Given the description of an element on the screen output the (x, y) to click on. 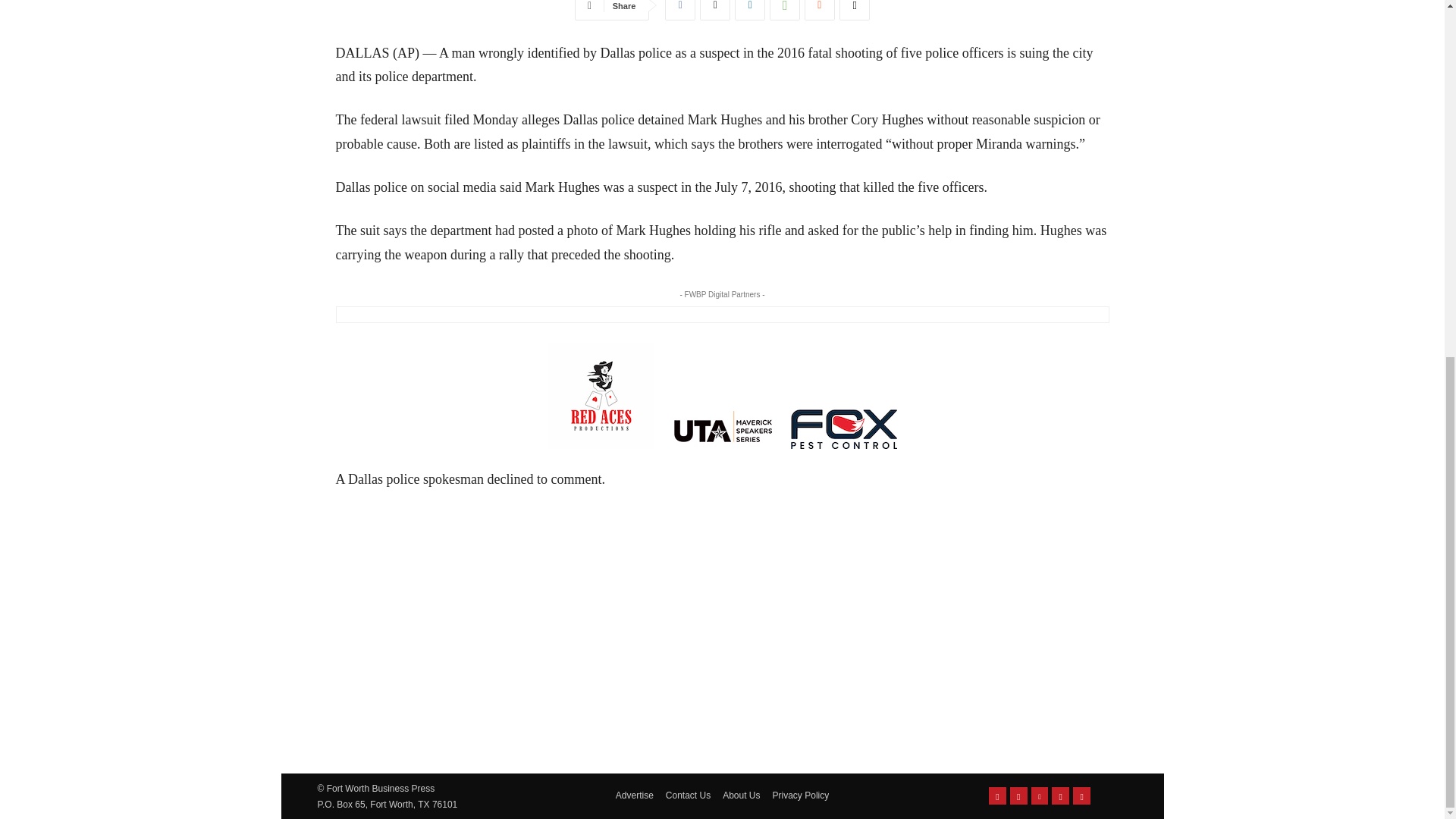
Facebook (680, 10)
Linkedin (750, 10)
Twitter (715, 10)
